Given the description of an element on the screen output the (x, y) to click on. 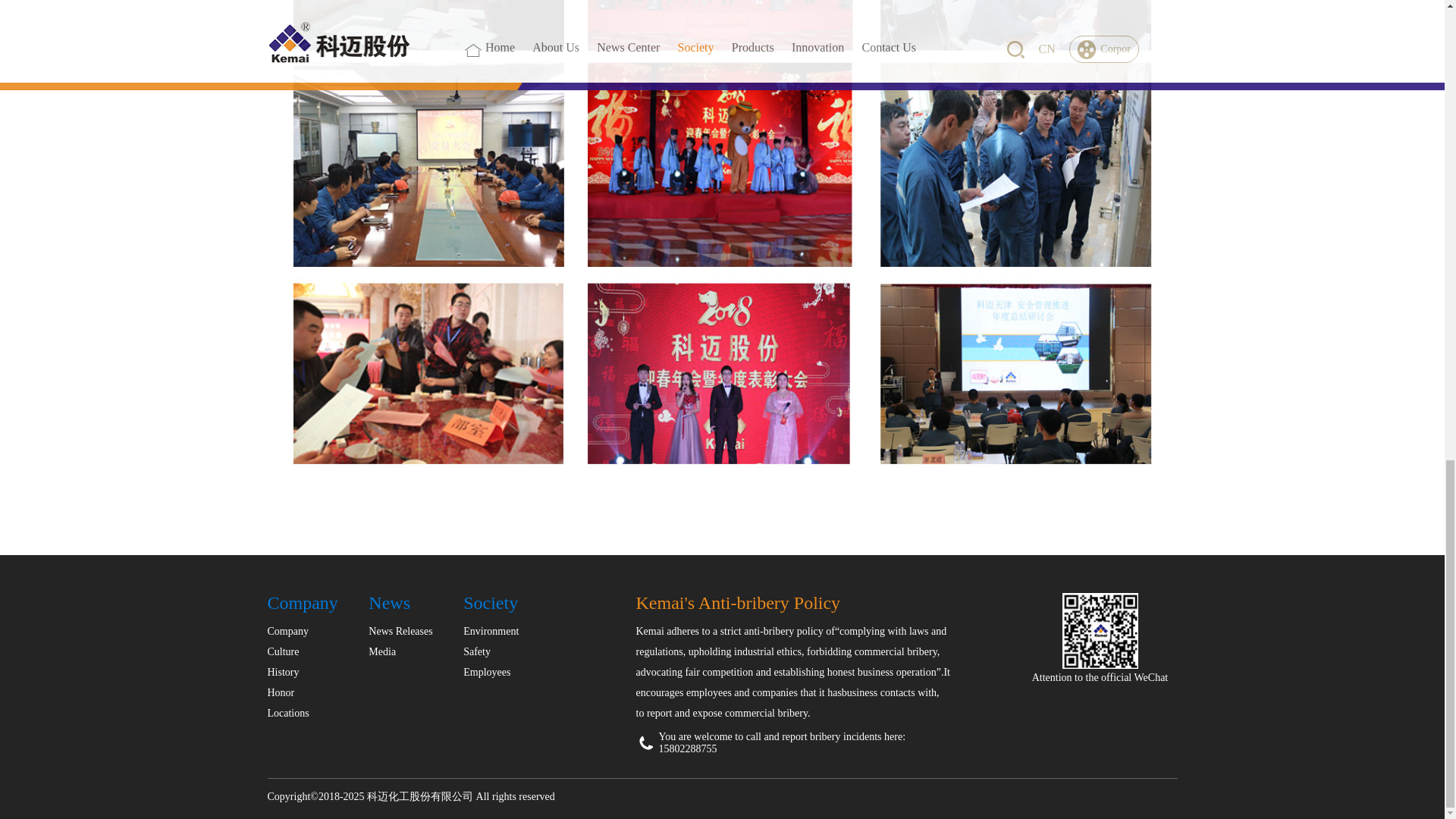
1516774273737981.jpg (1099, 630)
